Given the description of an element on the screen output the (x, y) to click on. 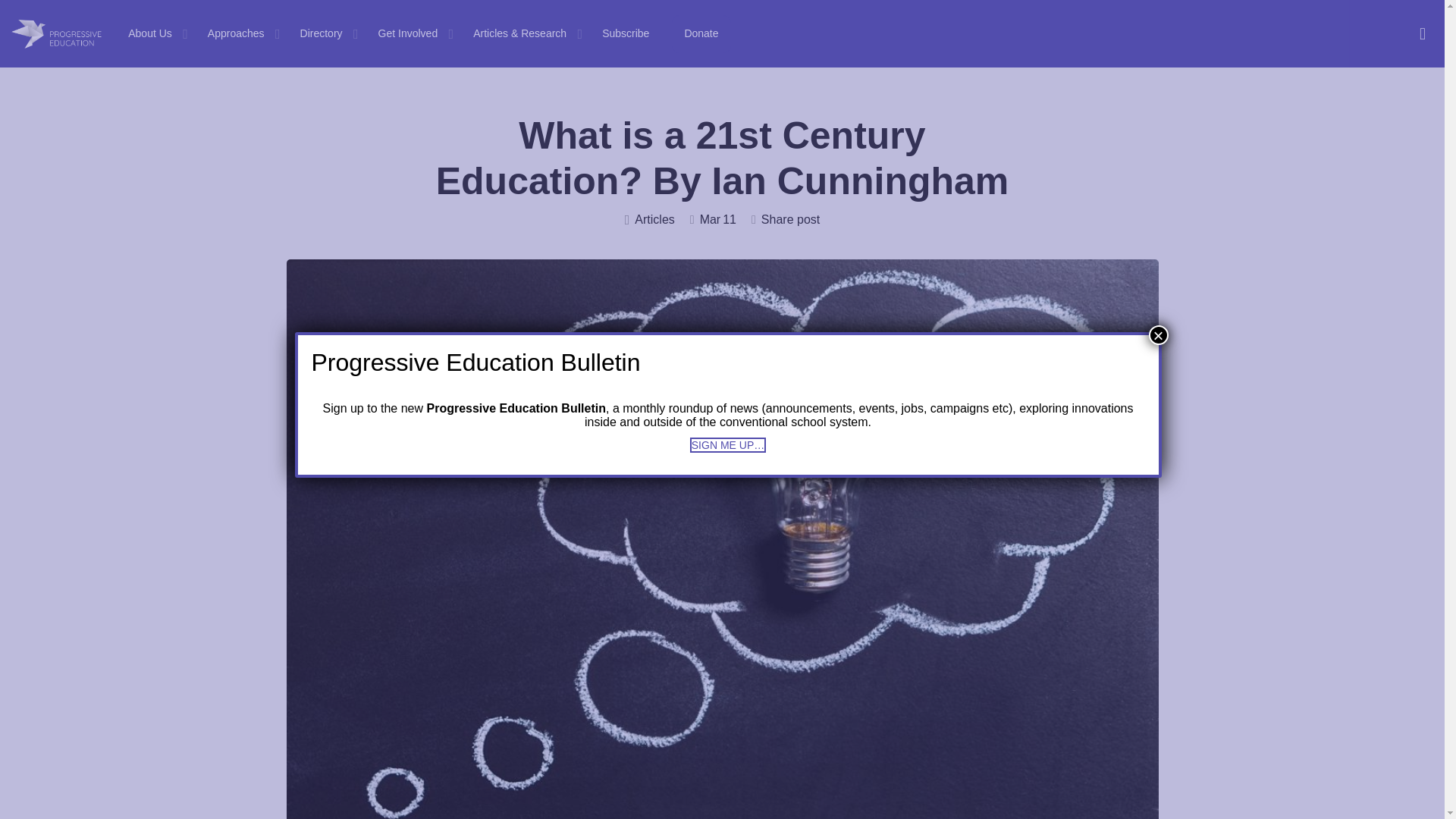
Approaches (236, 32)
Get Involved (408, 32)
About Us (149, 32)
Directory (320, 32)
